Given the description of an element on the screen output the (x, y) to click on. 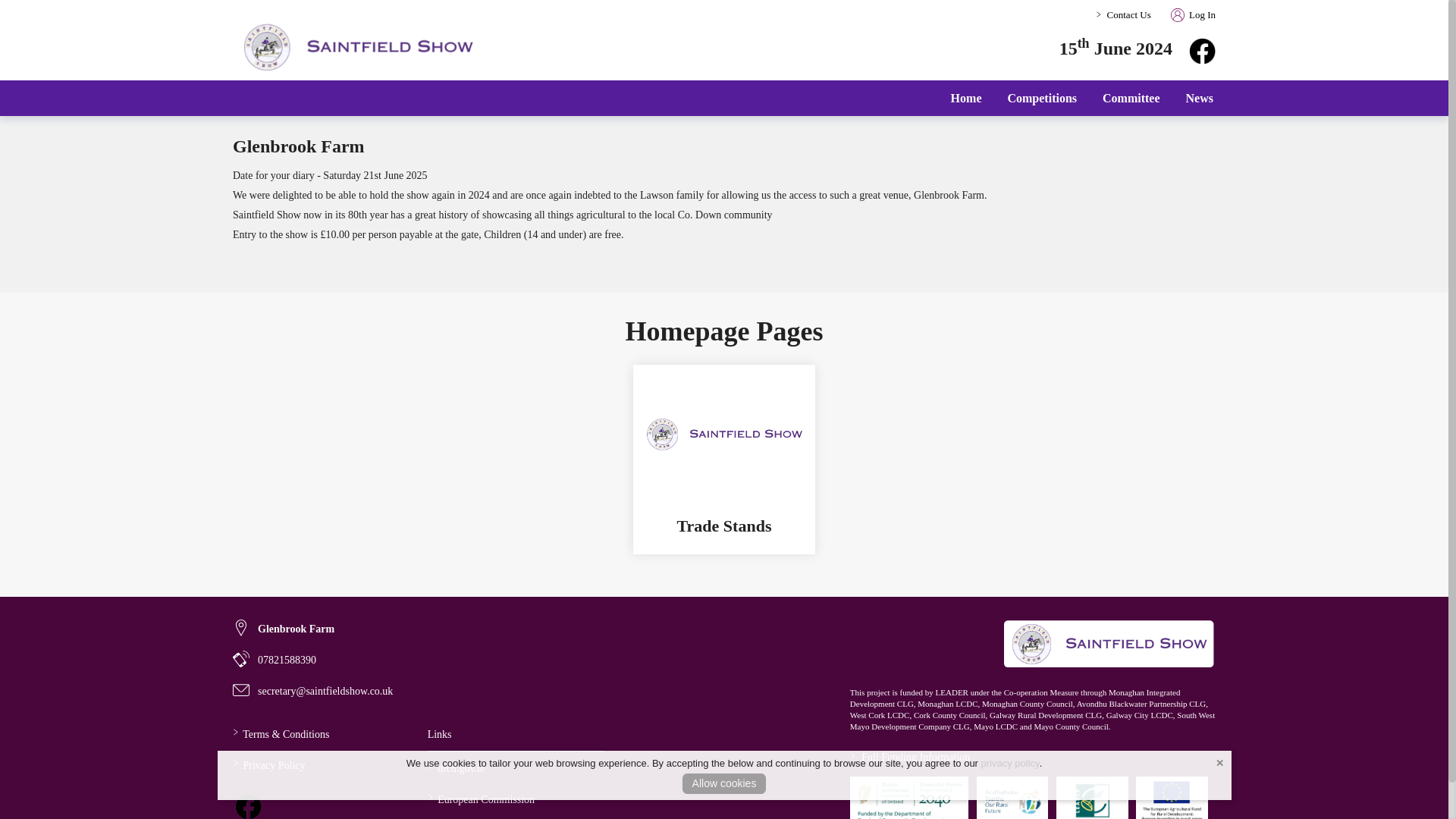
Allow cookies (724, 783)
link to homepage (1109, 643)
link to Trade Stands (724, 434)
privacy policy (1010, 763)
Log In (1189, 14)
News (1199, 98)
07821588390 (273, 659)
link to facebook (1202, 50)
link to Trade Stands (724, 526)
Trade Stands (724, 526)
